Given the description of an element on the screen output the (x, y) to click on. 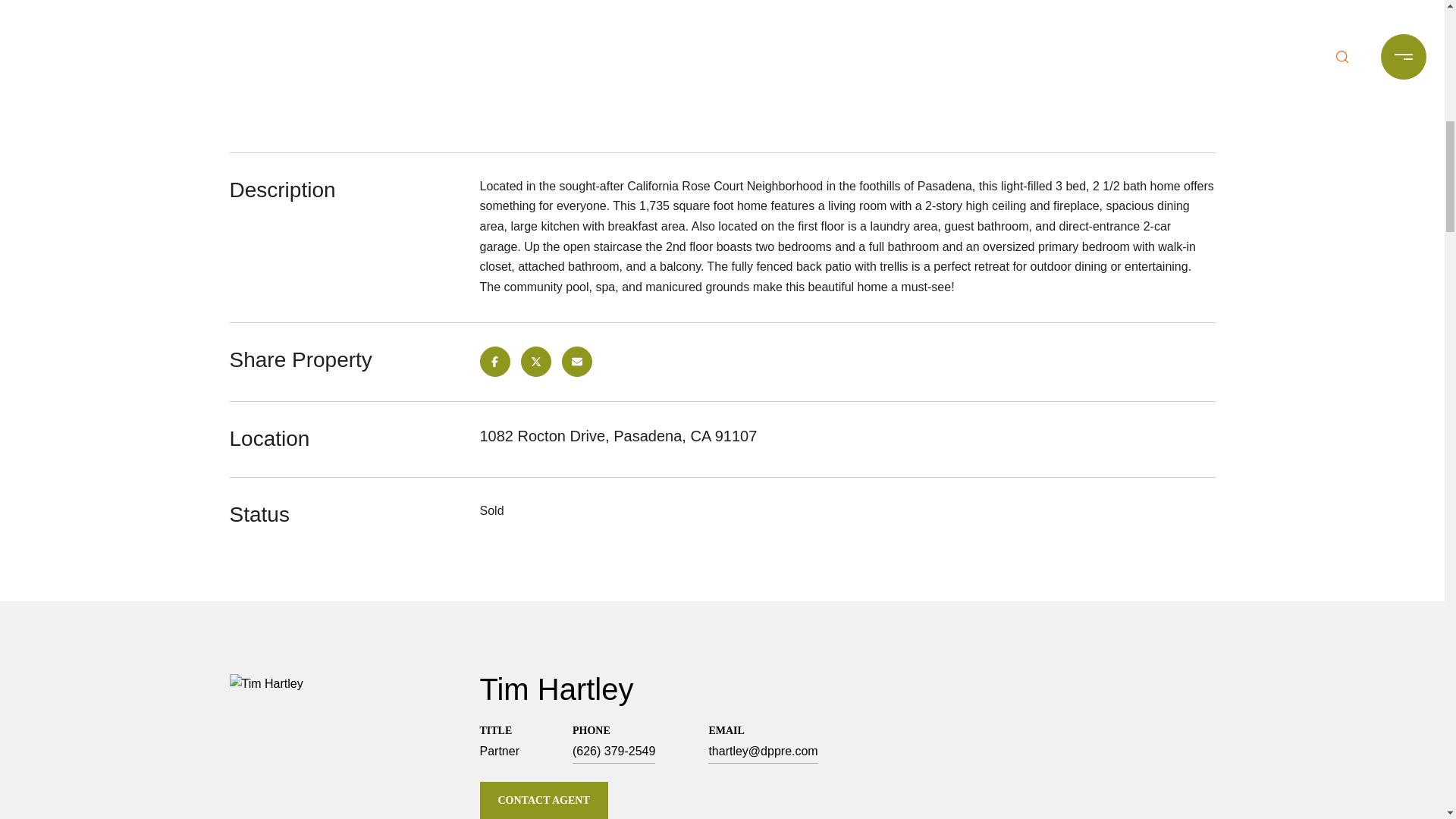
CONTACT AGENT (543, 800)
INQUIRE NOW (722, 85)
